Given the description of an element on the screen output the (x, y) to click on. 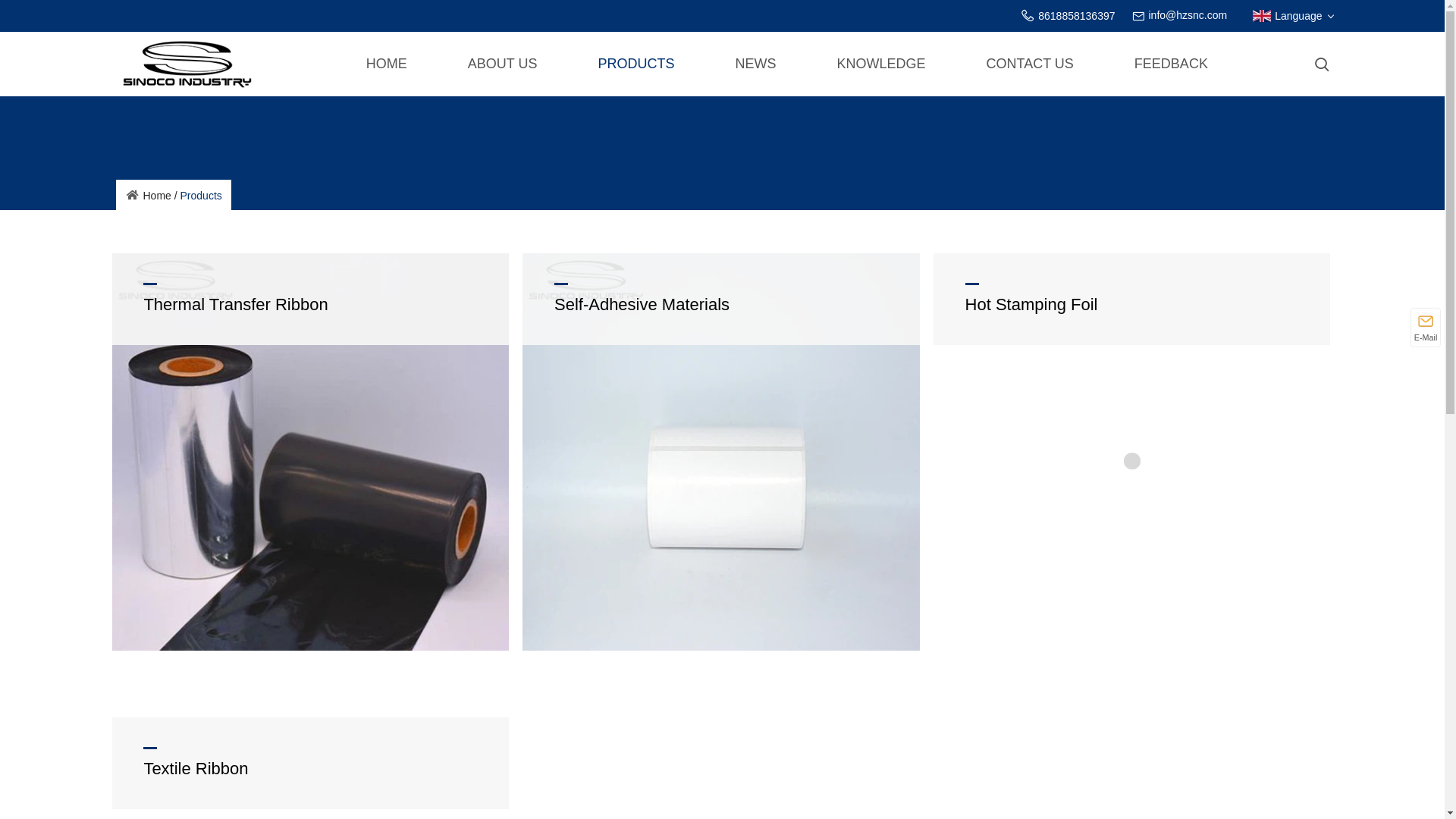
Thermal Transfer Ribbon (310, 298)
FEEDBACK (1171, 63)
Home (146, 194)
Hot Stamping Foil (1131, 298)
KNOWLEDGE (880, 63)
ABOUT US (502, 63)
PRODUCTS (635, 63)
NEWS (755, 63)
8618858136397 (1076, 15)
Hangzhou Sinoco Industry Co., Ltd (187, 63)
Textile Ribbon (310, 763)
CONTACT US (1029, 63)
Self-Adhesive Materials (721, 298)
HOME (387, 63)
Home (146, 194)
